Given the description of an element on the screen output the (x, y) to click on. 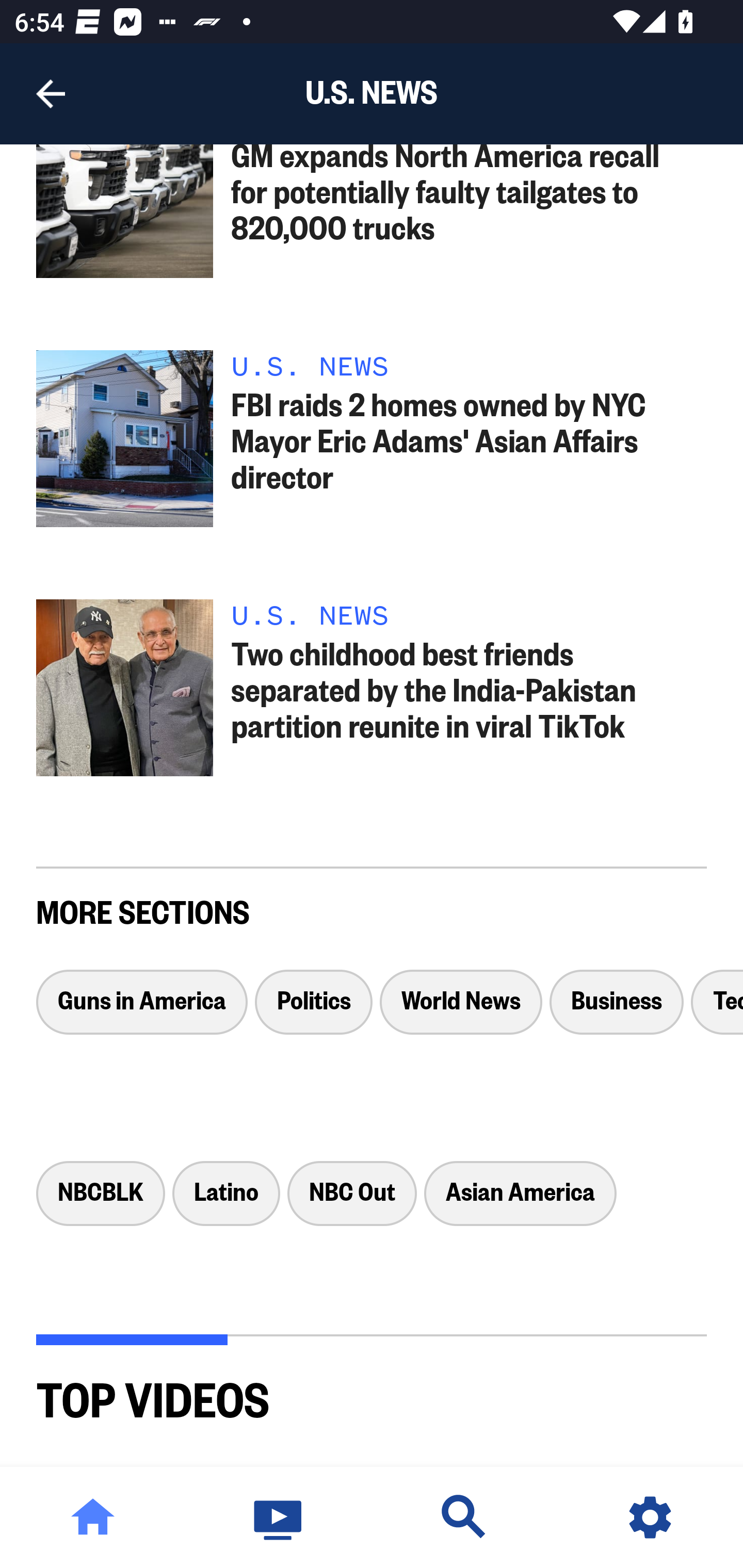
Navigate up (50, 93)
Guns in America (141, 1010)
Politics (313, 1010)
World News (460, 1010)
Business (616, 1010)
NBCBLK (100, 1201)
Latino (226, 1201)
NBC Out (351, 1201)
Asian America (520, 1201)
Watch (278, 1517)
Discover (464, 1517)
Settings (650, 1517)
